Given the description of an element on the screen output the (x, y) to click on. 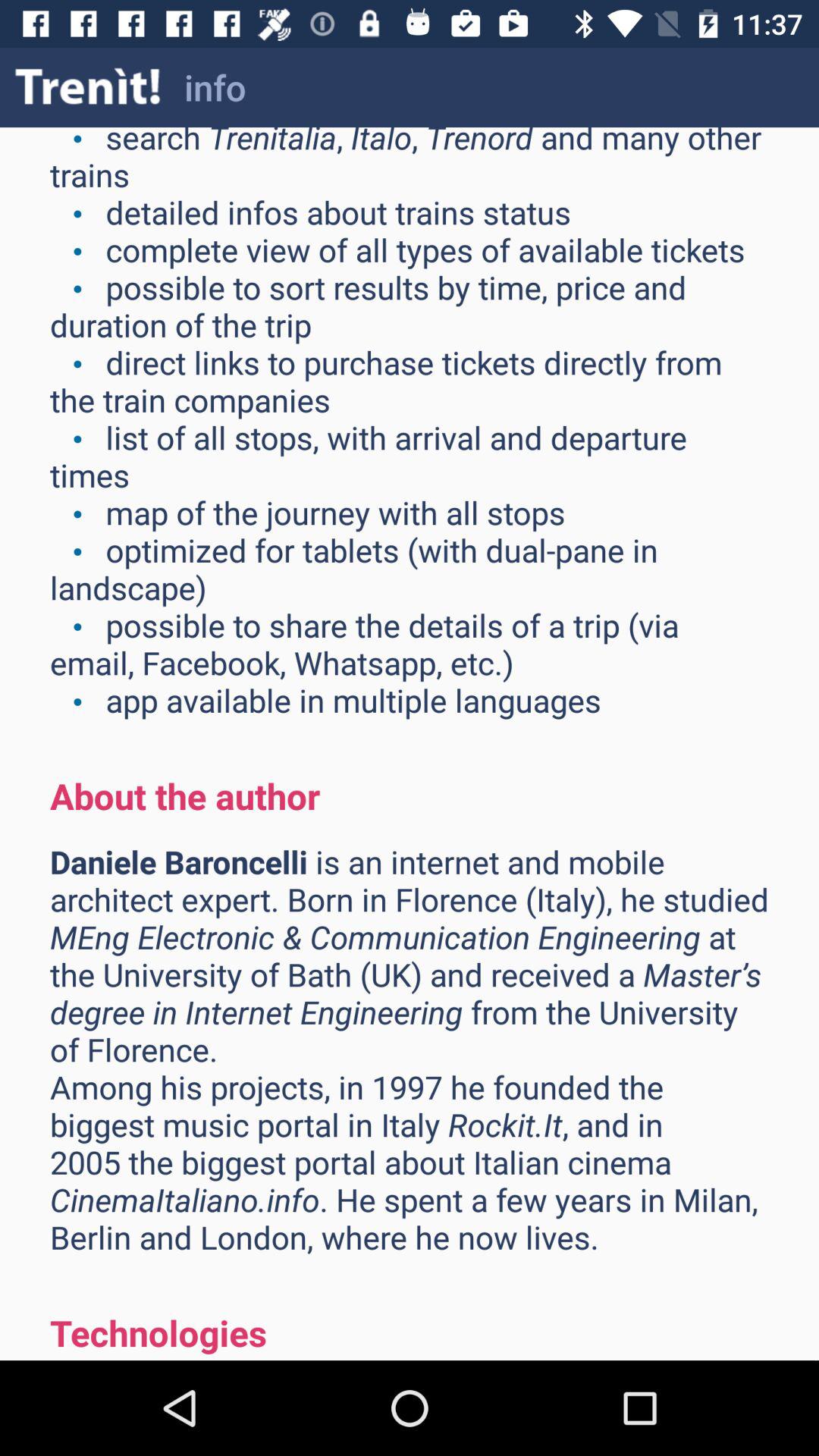
open icon next to info (88, 87)
